Given the description of an element on the screen output the (x, y) to click on. 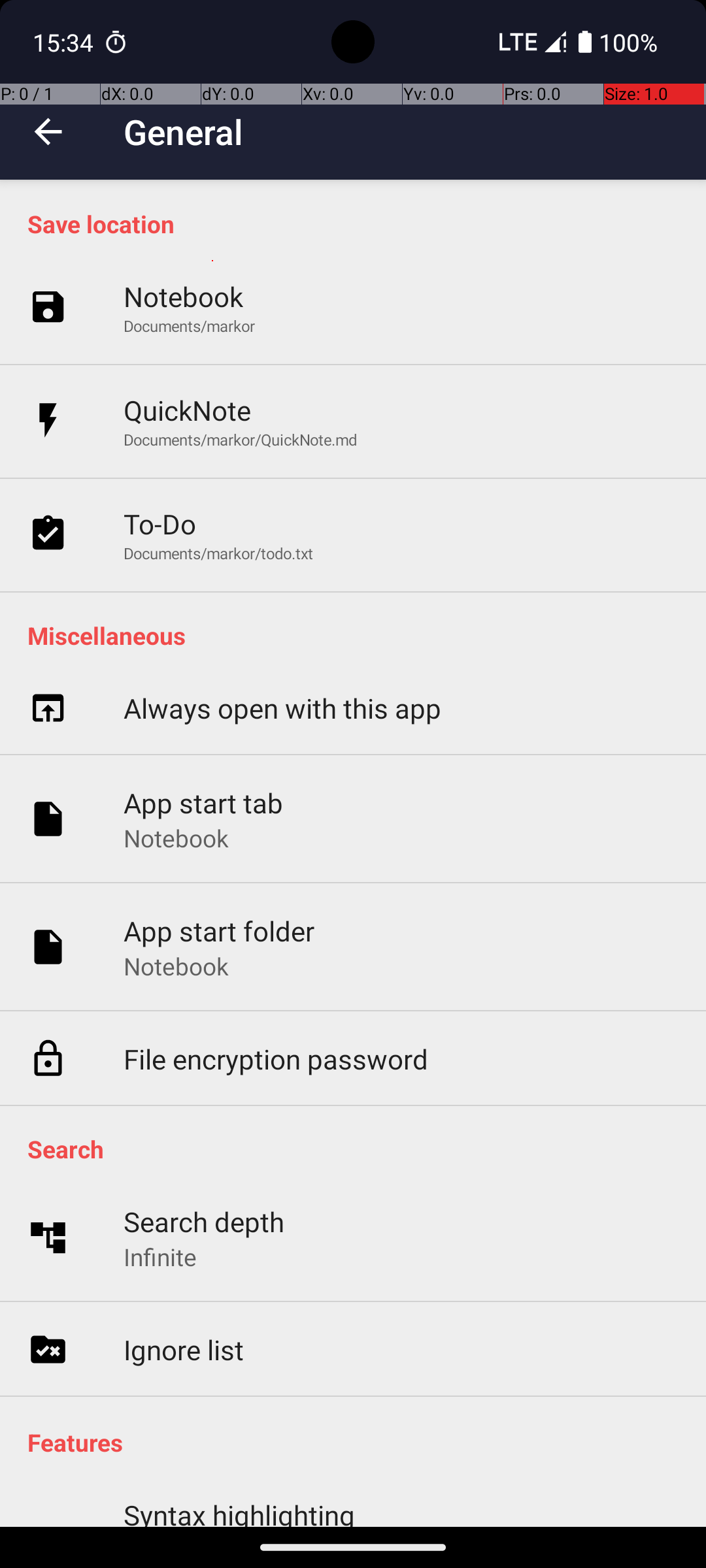
Save location Element type: android.widget.TextView (359, 223)
Miscellaneous Element type: android.widget.TextView (359, 635)
Features Element type: android.widget.TextView (359, 1441)
Notebook Element type: android.widget.TextView (183, 295)
Documents/markor Element type: android.widget.TextView (188, 325)
Documents/markor/QuickNote.md Element type: android.widget.TextView (239, 439)
Documents/markor/todo.txt Element type: android.widget.TextView (218, 552)
Always open with this app Element type: android.widget.TextView (282, 707)
App start tab Element type: android.widget.TextView (203, 802)
App start folder Element type: android.widget.TextView (219, 930)
File encryption password Element type: android.widget.TextView (275, 1058)
Search depth Element type: android.widget.TextView (203, 1221)
Infinite Element type: android.widget.TextView (159, 1256)
Ignore list Element type: android.widget.TextView (183, 1349)
Syntax highlighting Element type: android.widget.TextView (238, 1511)
